Given the description of an element on the screen output the (x, y) to click on. 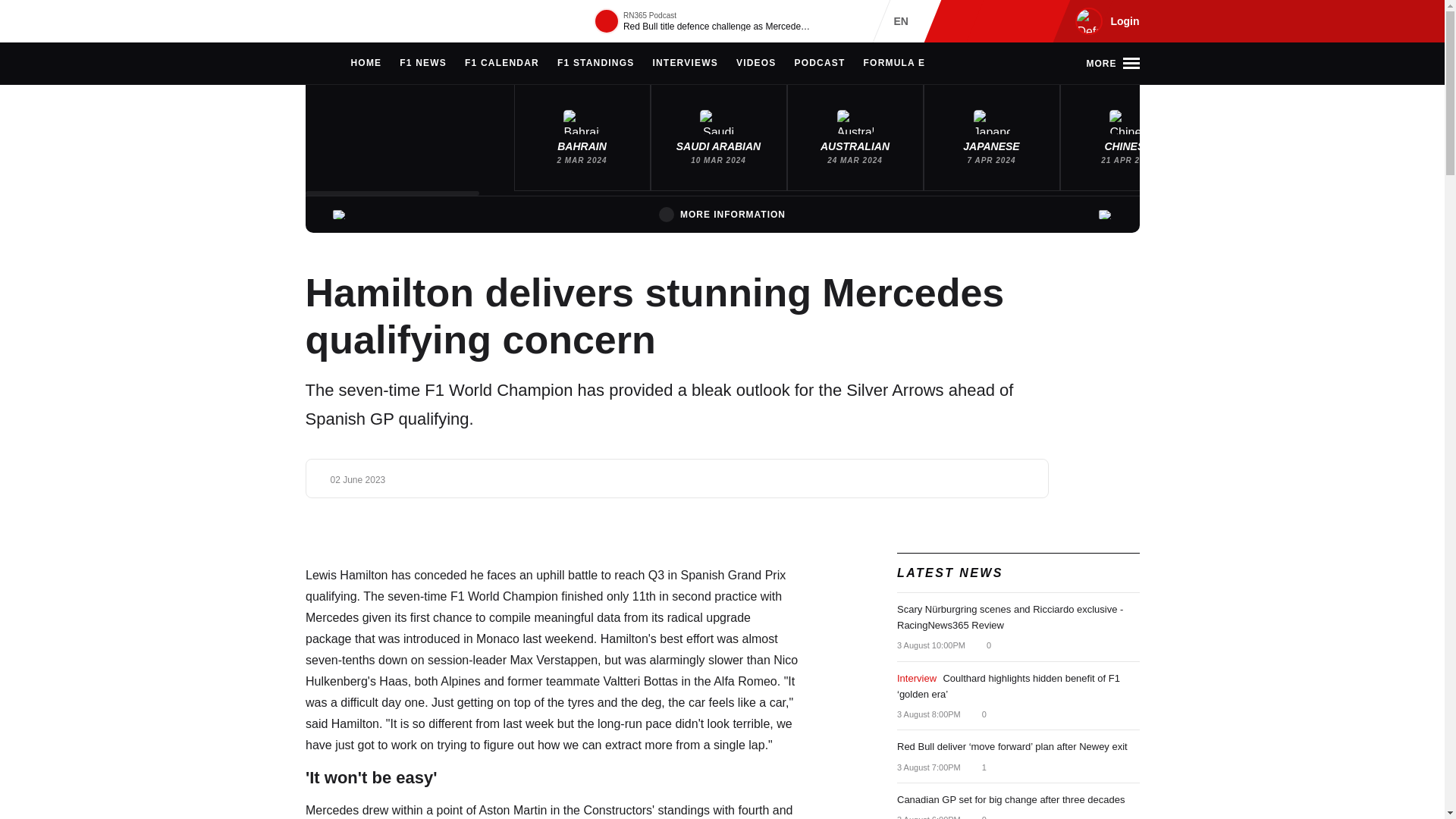
INTERVIEWS (684, 63)
F1 CALENDAR (501, 63)
FORMULA E (894, 63)
RacingNews365 on YouTube (1034, 21)
HOME (365, 63)
PODCAST (818, 63)
F1 STANDINGS (595, 63)
Friday 02 June 2023, 4:45PM (357, 480)
Login (1104, 21)
RacingNews365 on Instagram (962, 21)
RacingNews365 (350, 21)
VIDEOS (756, 63)
MORE INFORMATION (722, 214)
RacingNews365 on X (1010, 21)
